Given the description of an element on the screen output the (x, y) to click on. 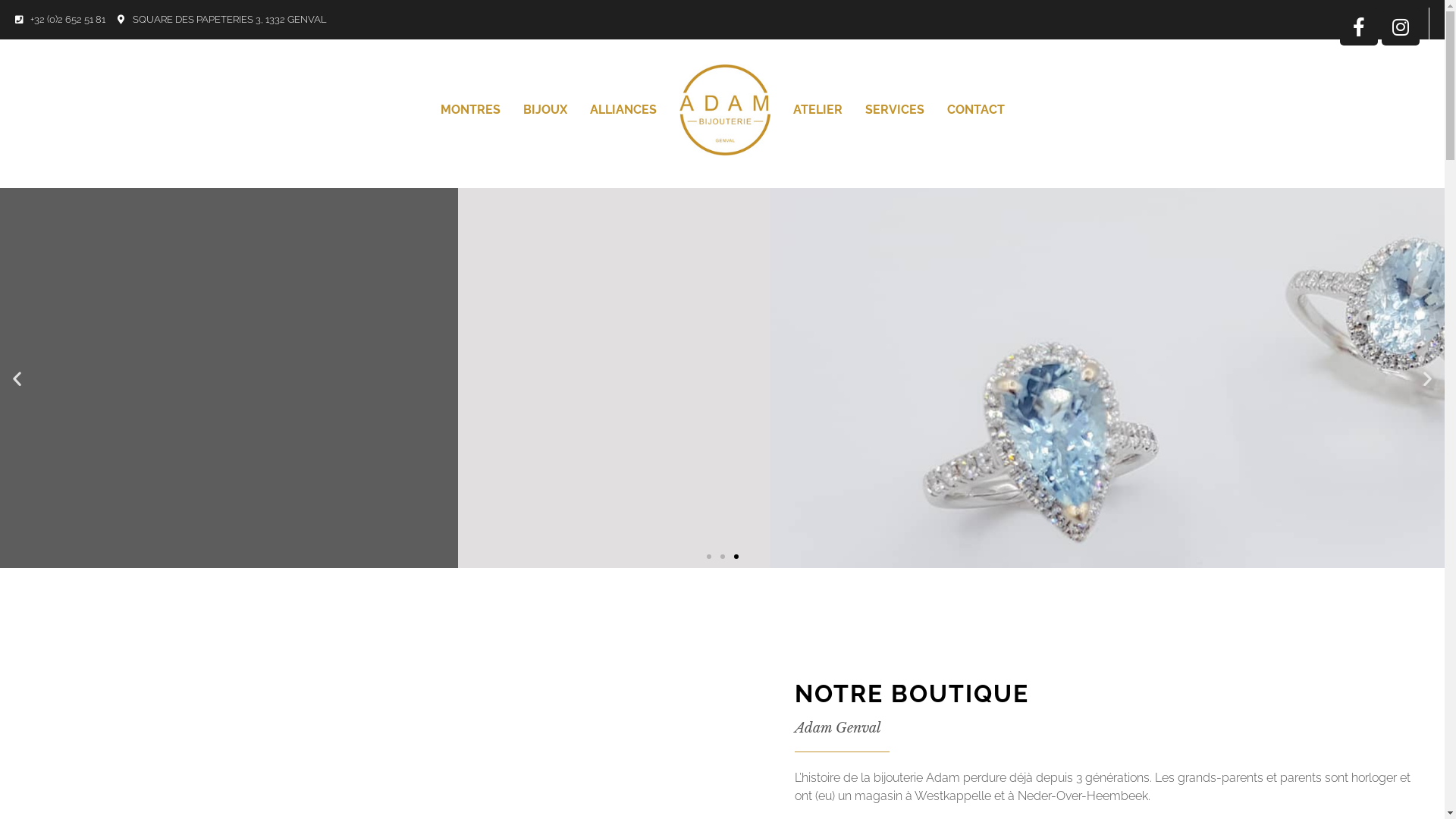
BIJOUX Element type: text (544, 109)
+32 (0)2 652 51 81 Element type: text (60, 19)
MONTRES Element type: text (470, 109)
ATELIER Element type: text (817, 109)
ALLIANCES Element type: text (622, 109)
SQUARE DES PAPETERIES 3, 1332 GENVAL Element type: text (221, 19)
CONTACT Element type: text (975, 109)
SERVICES Element type: text (894, 109)
